Given the description of an element on the screen output the (x, y) to click on. 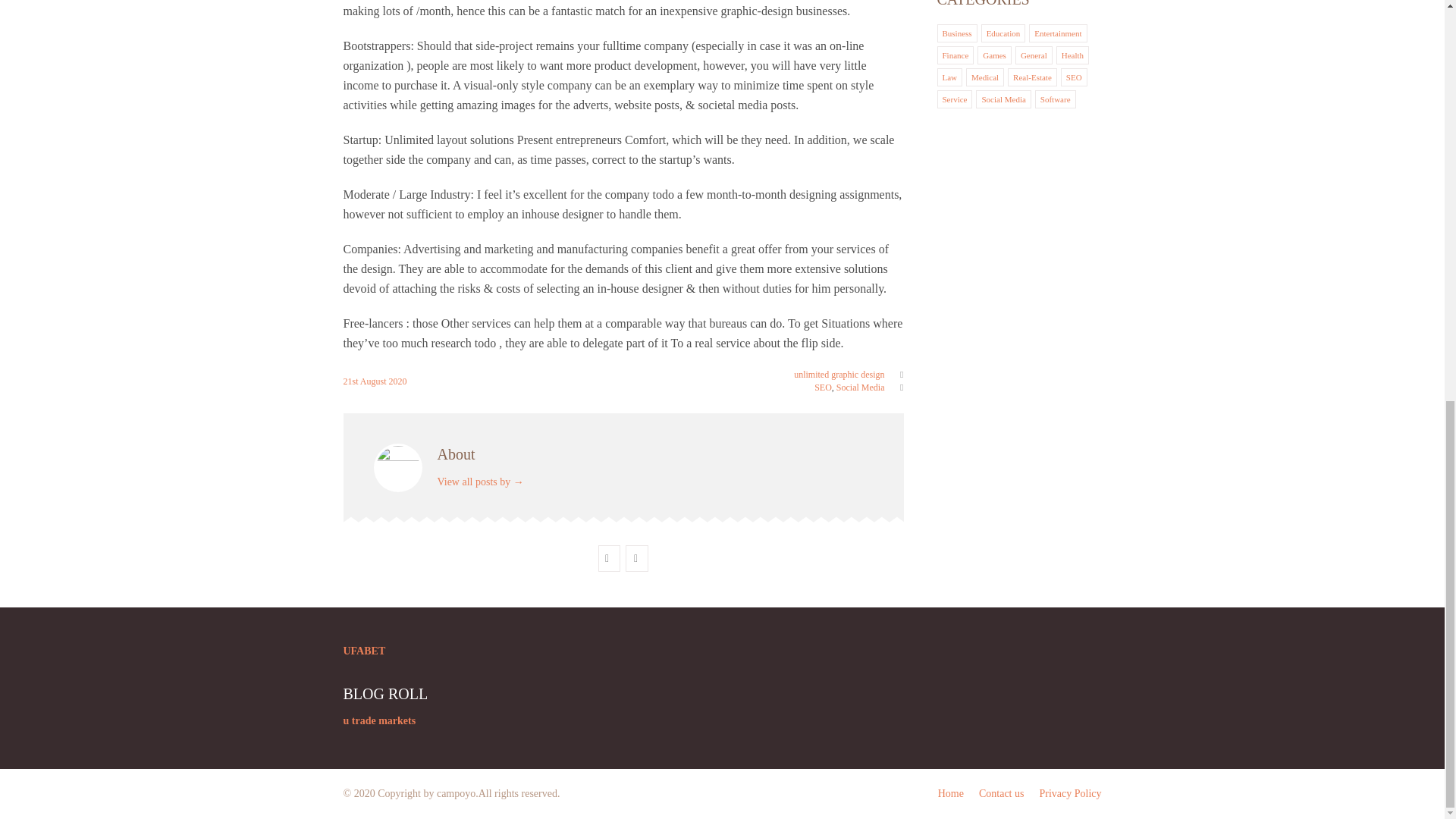
Games (994, 54)
Home (950, 793)
Medical (984, 76)
Education (1003, 32)
Link to yearly archives: 2020 (397, 380)
Link to monthly archives: August (373, 380)
General (1033, 54)
unlimited graphic design (838, 374)
Link to daily archives: August 21, 2020 (350, 380)
August (373, 380)
